Given the description of an element on the screen output the (x, y) to click on. 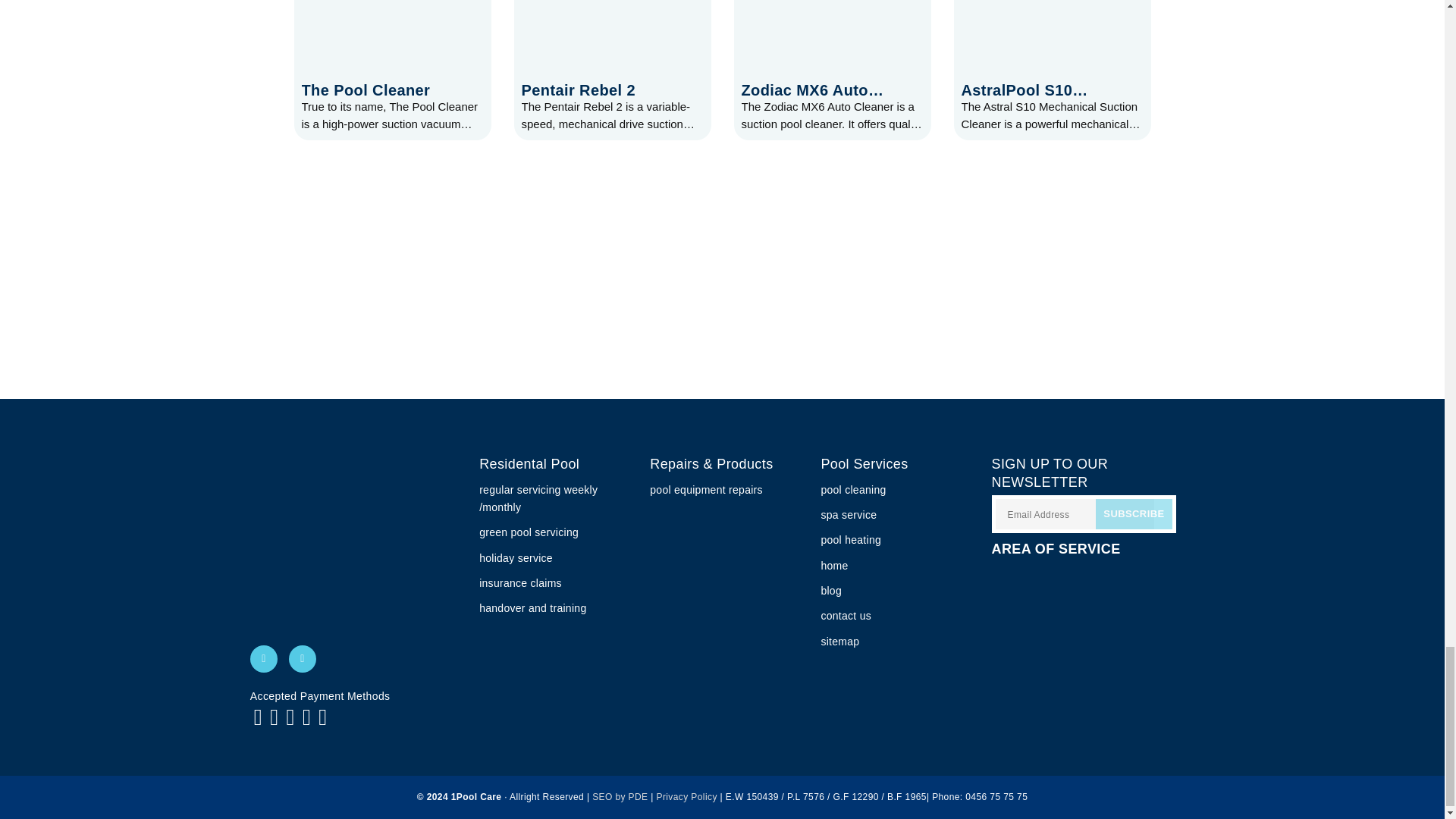
Subscribe (1134, 513)
